Given the description of an element on the screen output the (x, y) to click on. 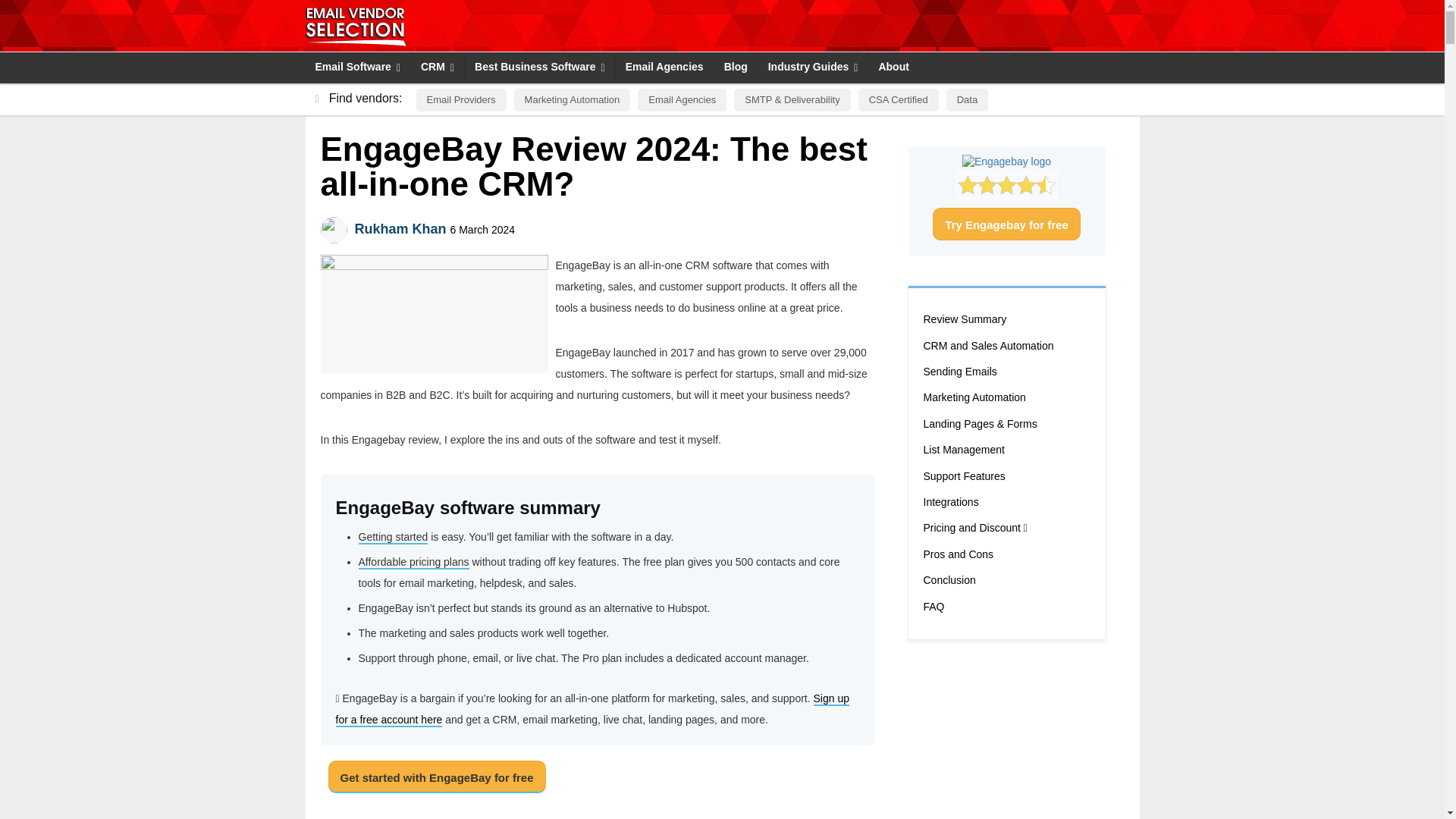
 List Management (963, 450)
Email Agencies (664, 68)
Industry Guides (812, 68)
 CRM and Sales Automation (988, 346)
Blog (735, 68)
 Marketing Automation (974, 398)
 FAQ (933, 607)
Best Business Software (539, 68)
 Conclusion (949, 580)
CRM (437, 68)
Email Software (357, 68)
 Integrations (950, 502)
 Sending Emails (960, 372)
 Review Summary  (965, 320)
 Pros and Cons (958, 555)
